Given the description of an element on the screen output the (x, y) to click on. 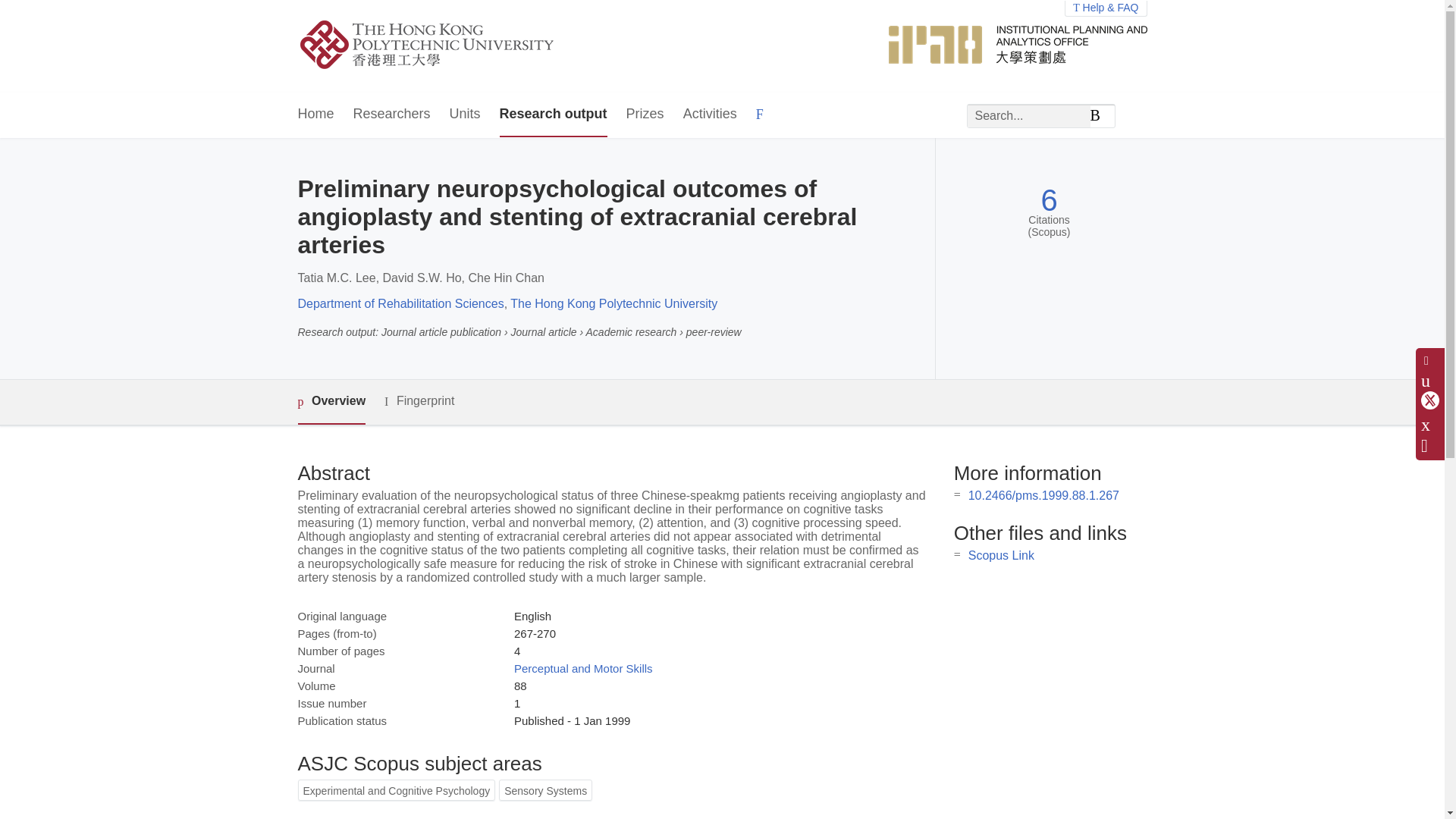
The Hong Kong Polytechnic University (614, 303)
Researchers (391, 114)
Perceptual and Motor Skills (582, 667)
Scopus Link (1000, 554)
Research output (553, 114)
Activities (709, 114)
PolyU Scholars Hub Home (444, 46)
Fingerprint (419, 401)
Overview (331, 402)
